Given the description of an element on the screen output the (x, y) to click on. 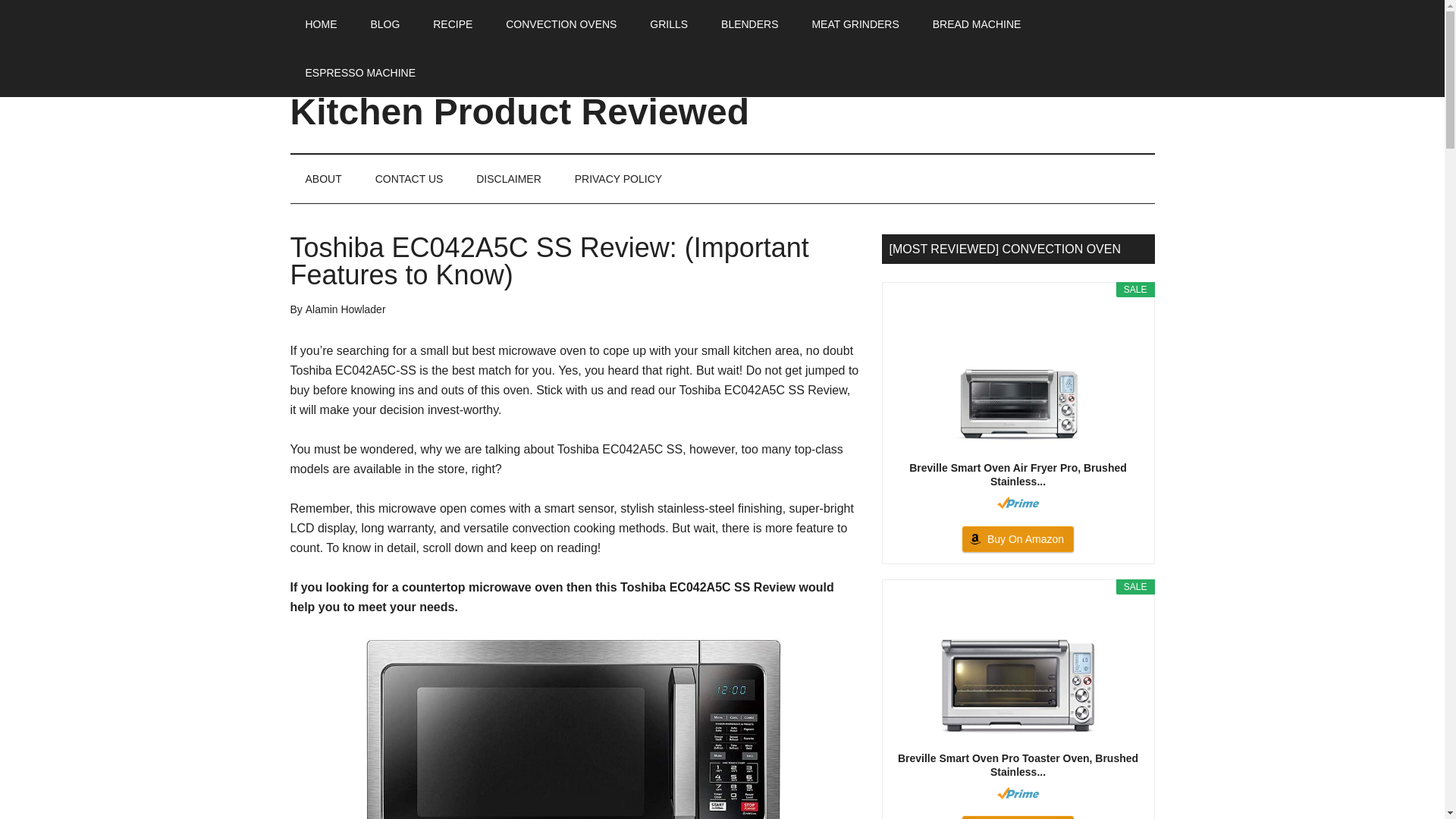
Amazon Prime (1018, 793)
Kitchen Product Reviewed (518, 111)
ESPRESSO MACHINE (359, 72)
Buy On Amazon (1018, 539)
ABOUT (322, 178)
HOME (320, 24)
RECIPE (452, 24)
GRILLS (668, 24)
MEAT GRINDERS (855, 24)
PRIVACY POLICY (618, 178)
